Given the description of an element on the screen output the (x, y) to click on. 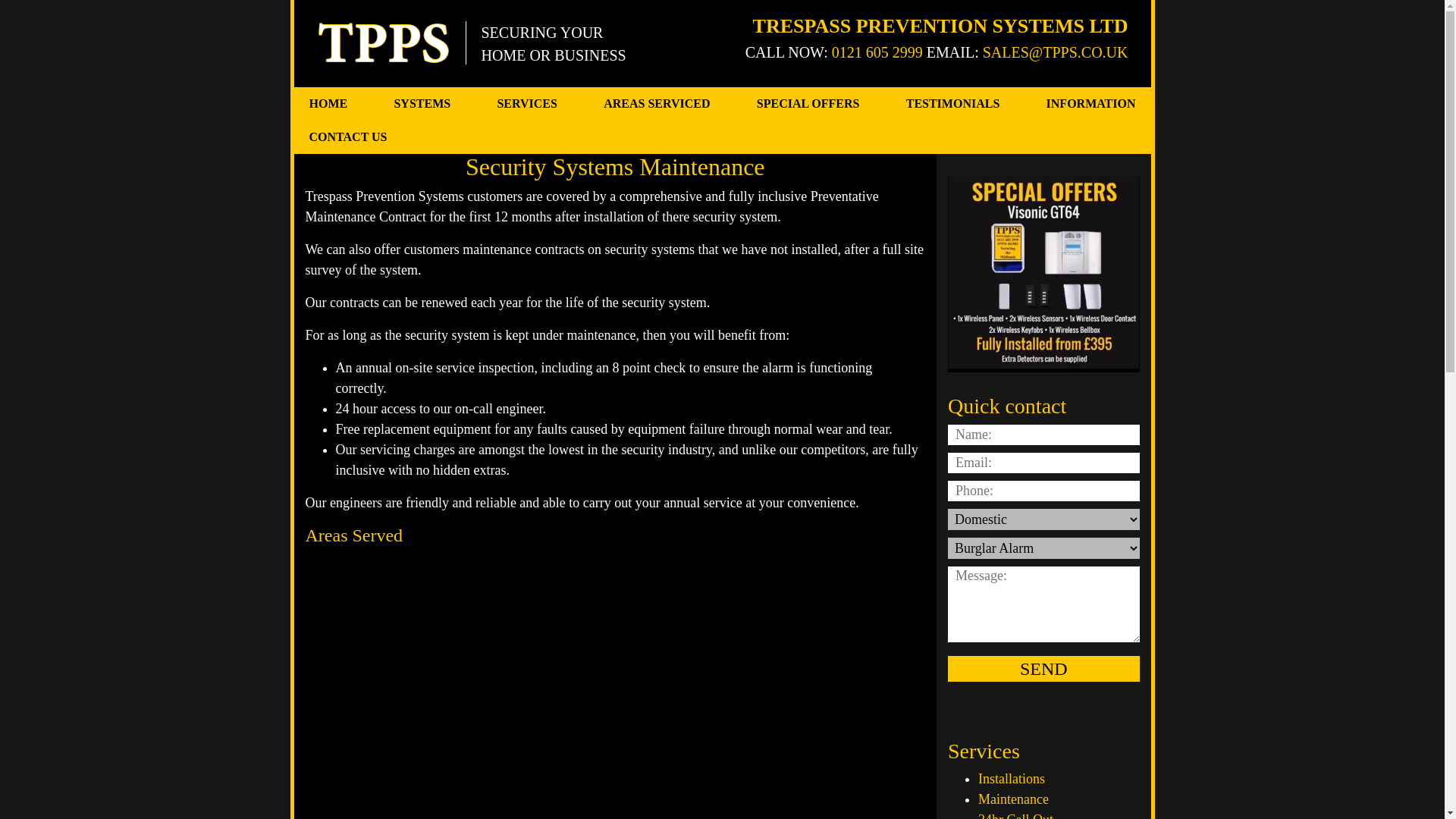
SYSTEMS (421, 103)
HOME (328, 103)
INFORMATION (1090, 103)
AREAS SERVICED (656, 103)
TRESPASS PREVENTION SYSTEMS LTD (940, 25)
TESTIMONIALS (952, 103)
SPECIAL OFFERS (808, 103)
0121 605 2999 (877, 52)
SERVICES (526, 103)
Send (1043, 668)
